Given the description of an element on the screen output the (x, y) to click on. 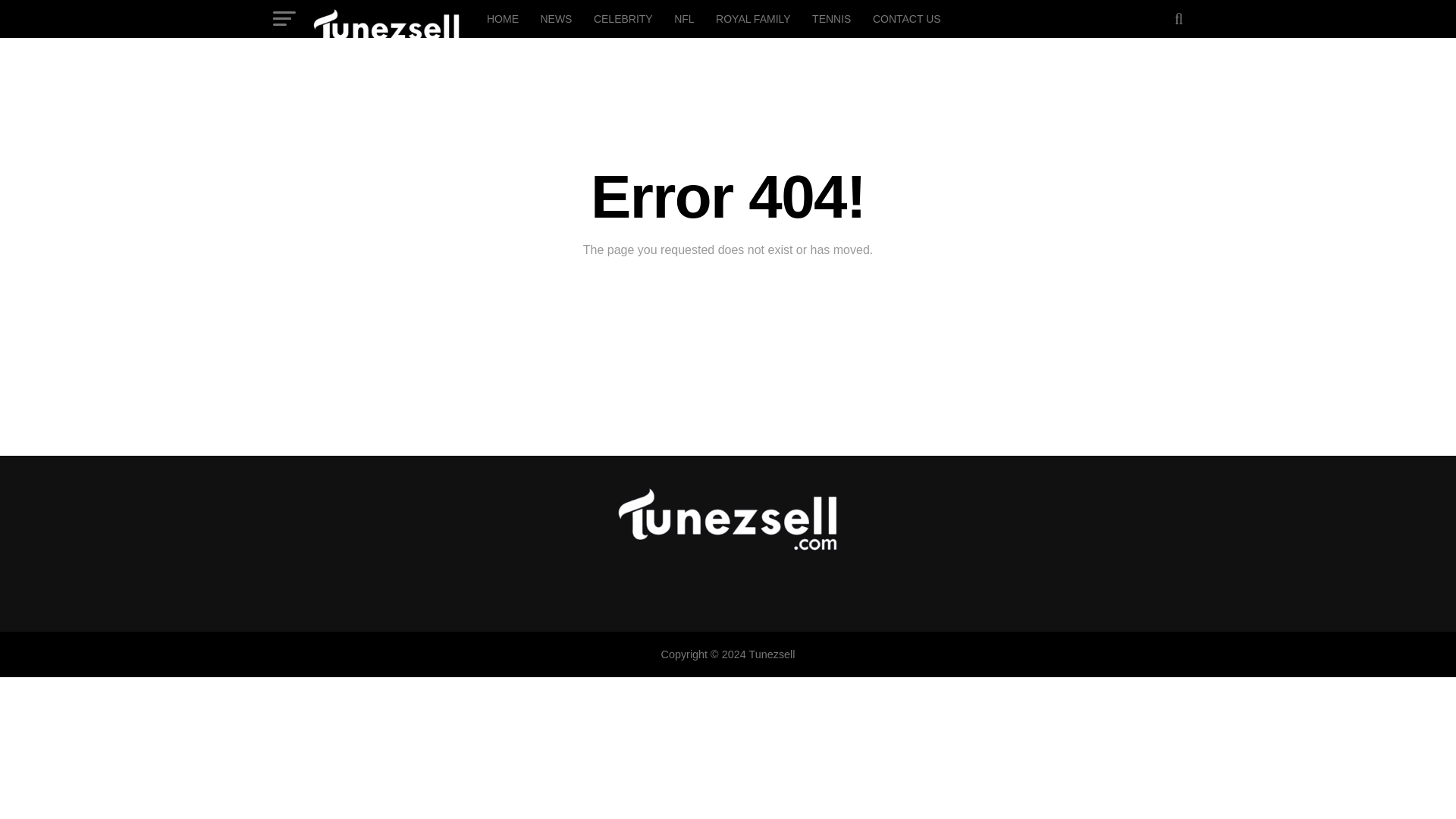
NEWS (555, 18)
ROYAL FAMILY (752, 18)
HOME (502, 18)
TENNIS (831, 18)
NFL (684, 18)
CONTACT US (906, 18)
CELEBRITY (623, 18)
